Given the description of an element on the screen output the (x, y) to click on. 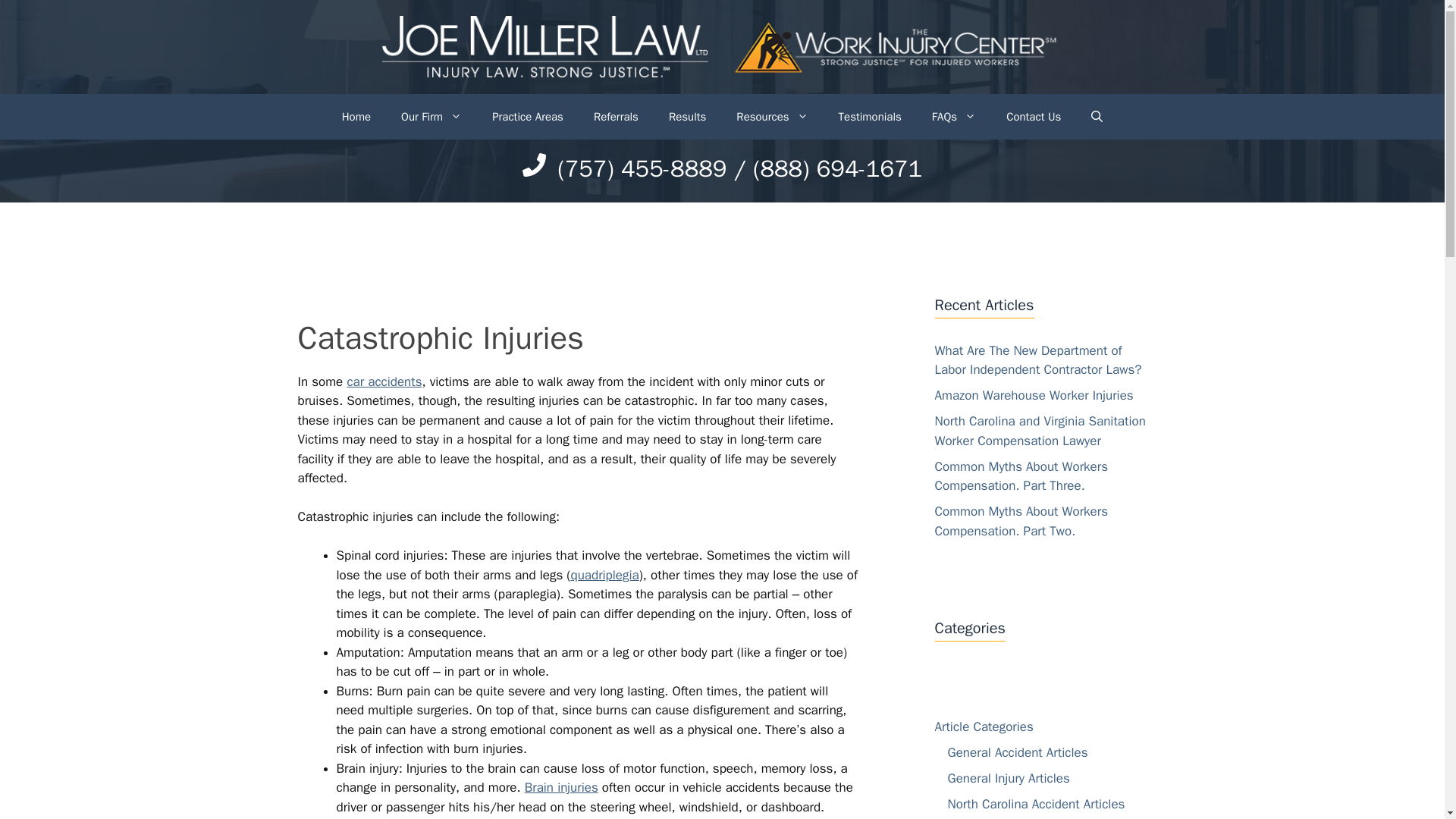
Car Accidents (384, 381)
Home (355, 116)
Brain Injuries (561, 787)
Quadriplegia (604, 575)
Our Firm (431, 116)
